Given the description of an element on the screen output the (x, y) to click on. 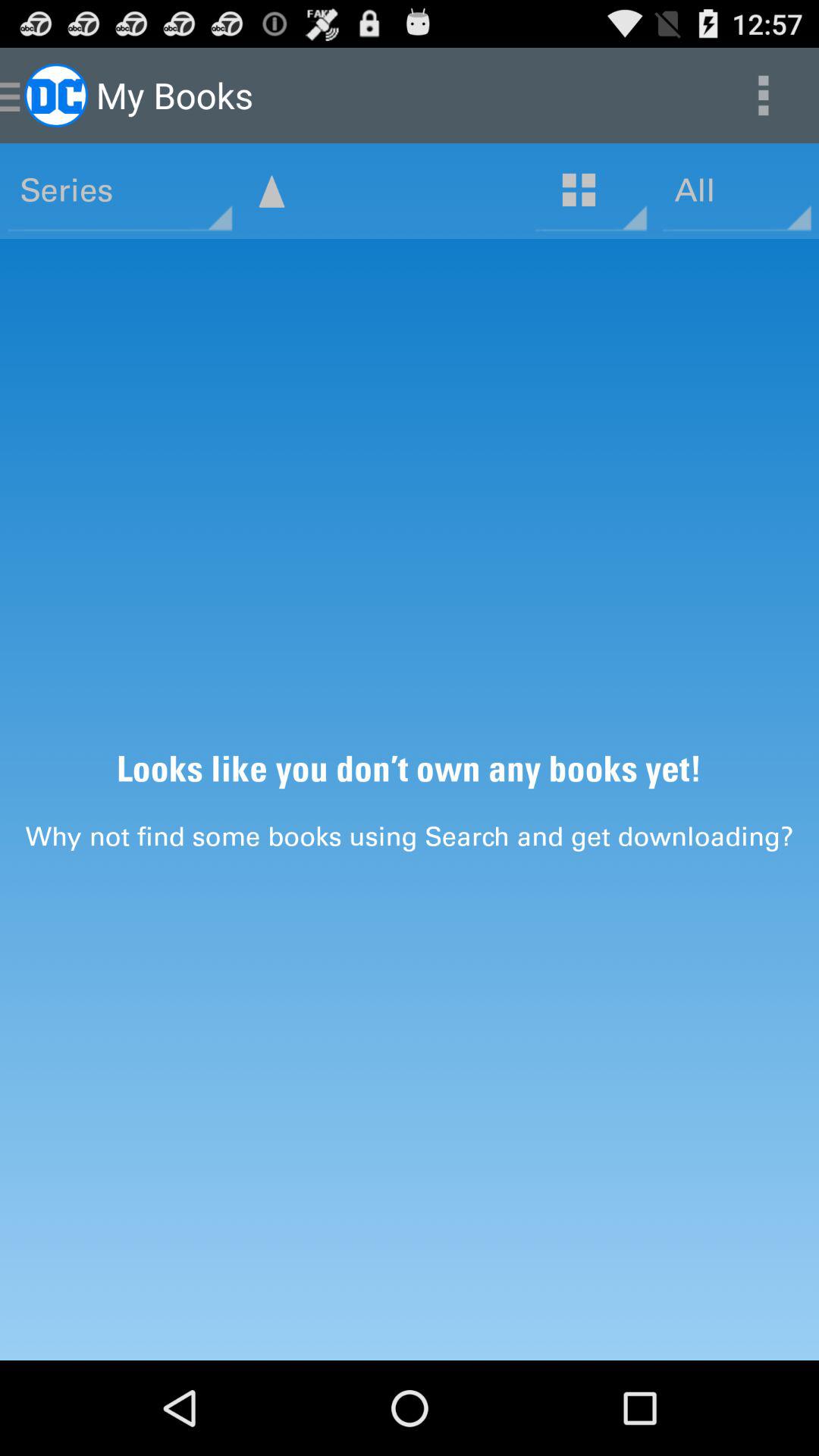
tap icon above all item (763, 95)
